Given the description of an element on the screen output the (x, y) to click on. 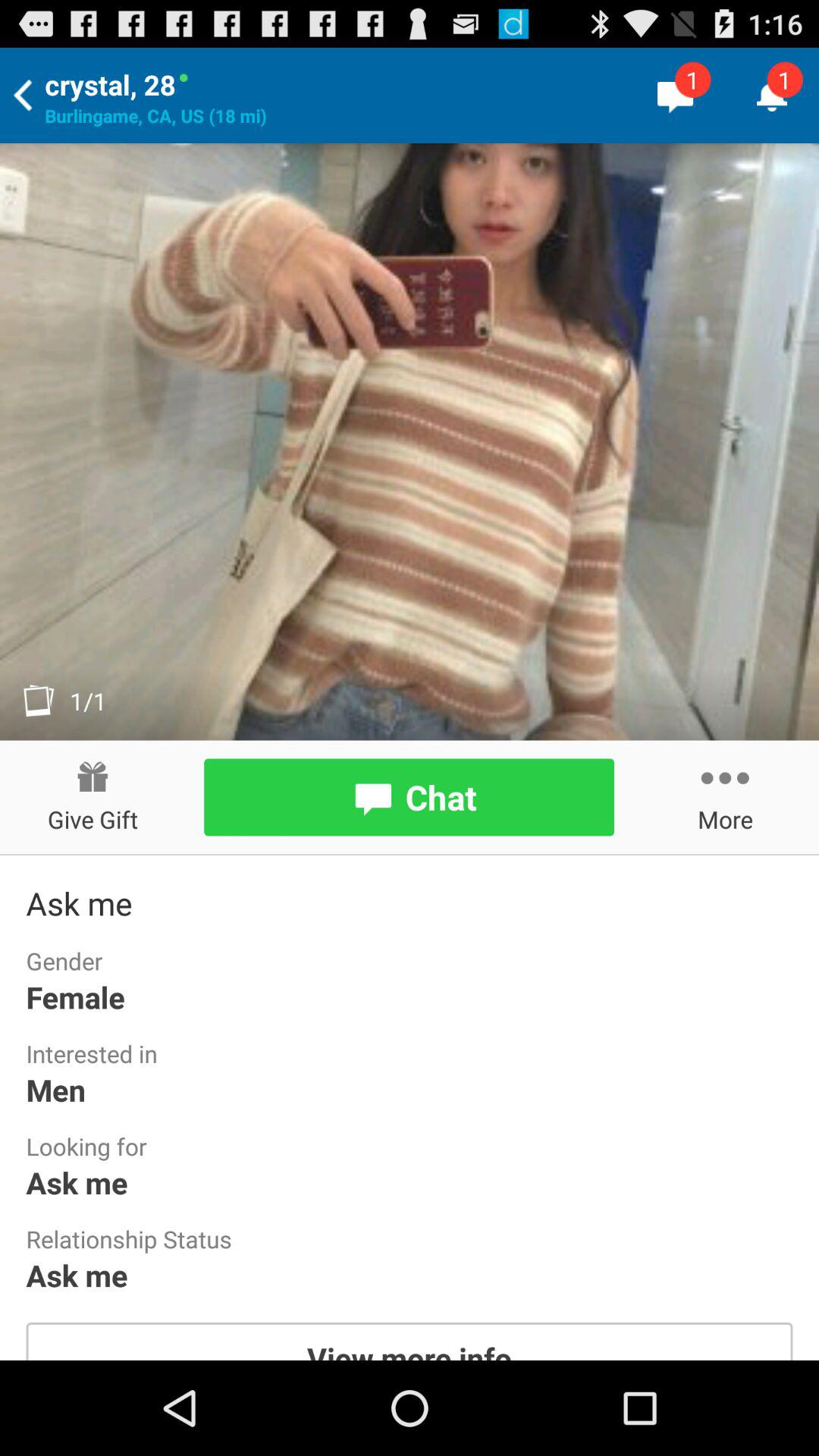
turn on the app below the ask me icon (409, 1341)
